Given the description of an element on the screen output the (x, y) to click on. 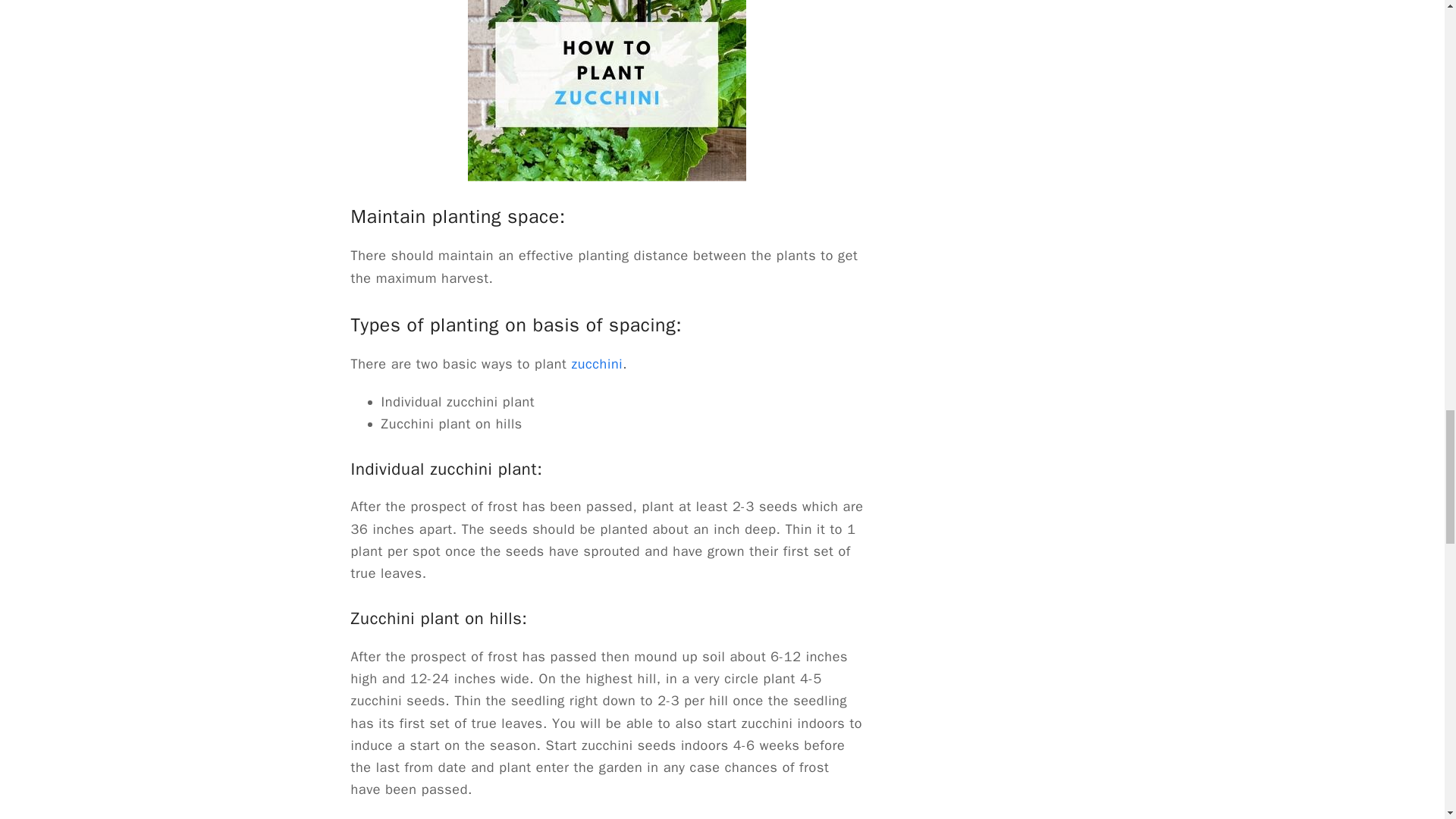
zucchini (597, 363)
